Given the description of an element on the screen output the (x, y) to click on. 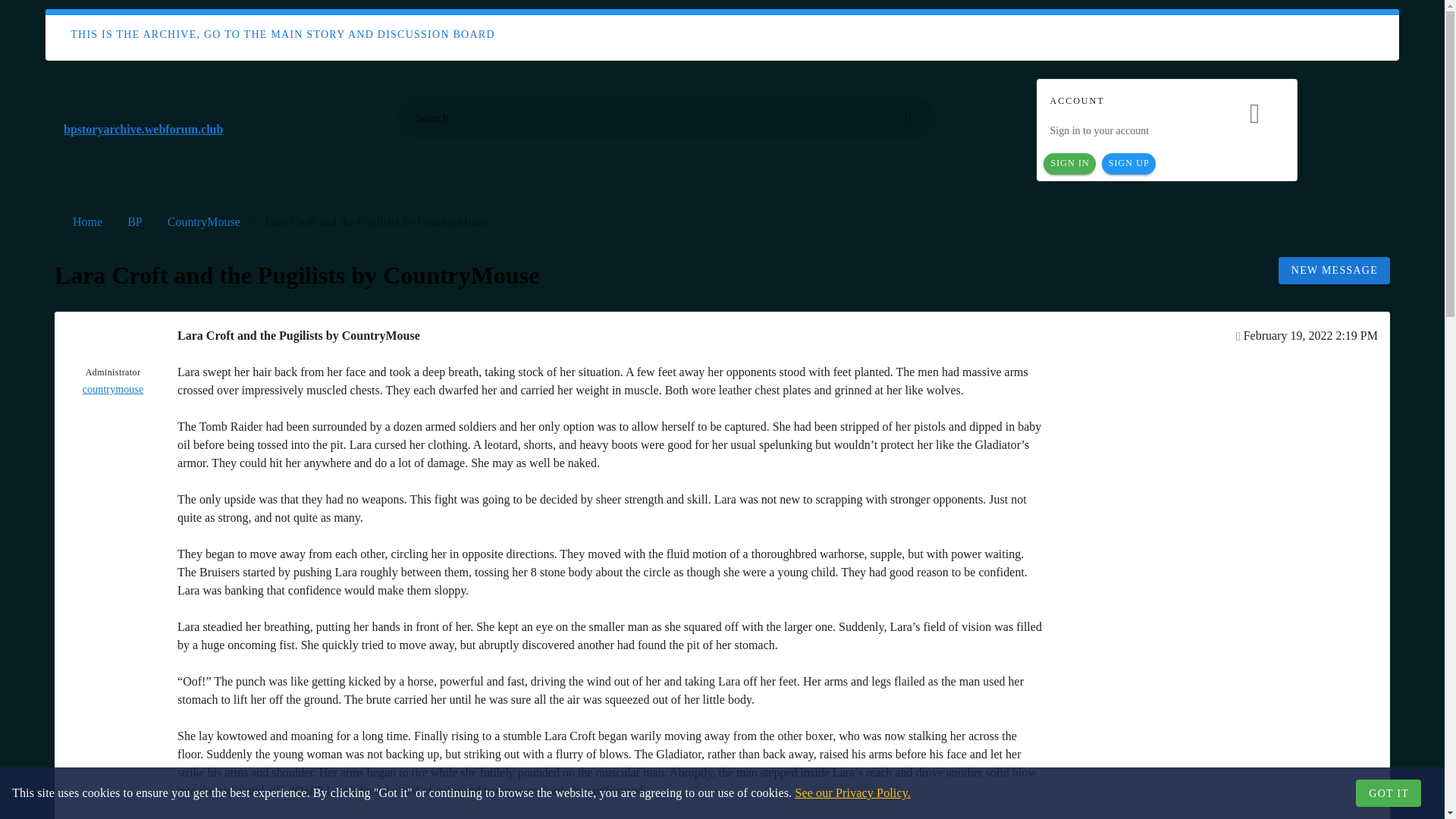
CountryMouse (203, 221)
NEW MESSAGE (1334, 270)
SIGN IN (1068, 163)
Home (86, 221)
See our Privacy Policy. (852, 792)
GOT IT (1388, 792)
bpstoryarchive.webforum.club (221, 129)
Lara Croft and the Pugilists by CountryMouse (377, 221)
countrymouse (113, 389)
SIGN UP (1129, 163)
